Given the description of an element on the screen output the (x, y) to click on. 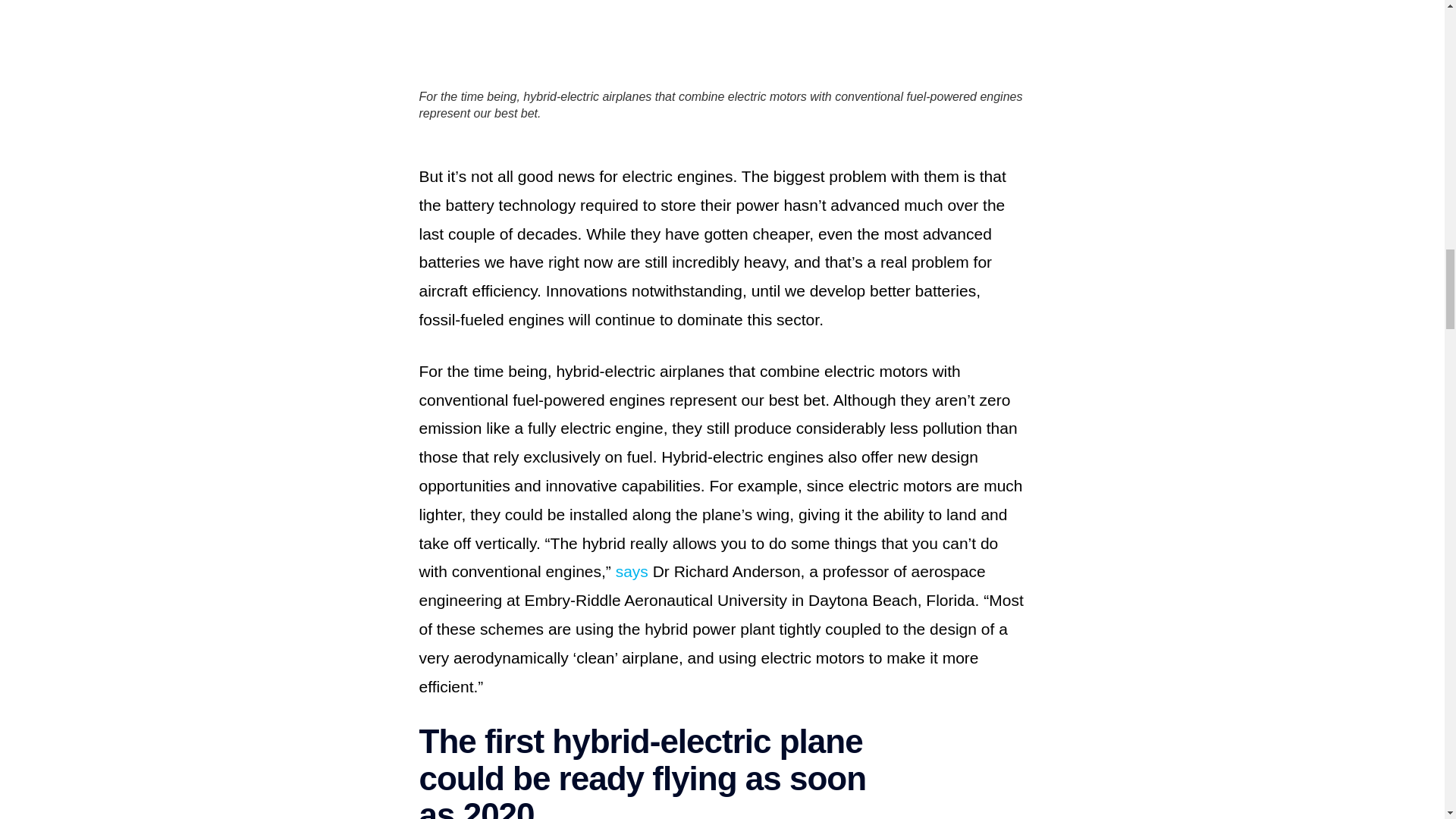
says (631, 570)
